Given the description of an element on the screen output the (x, y) to click on. 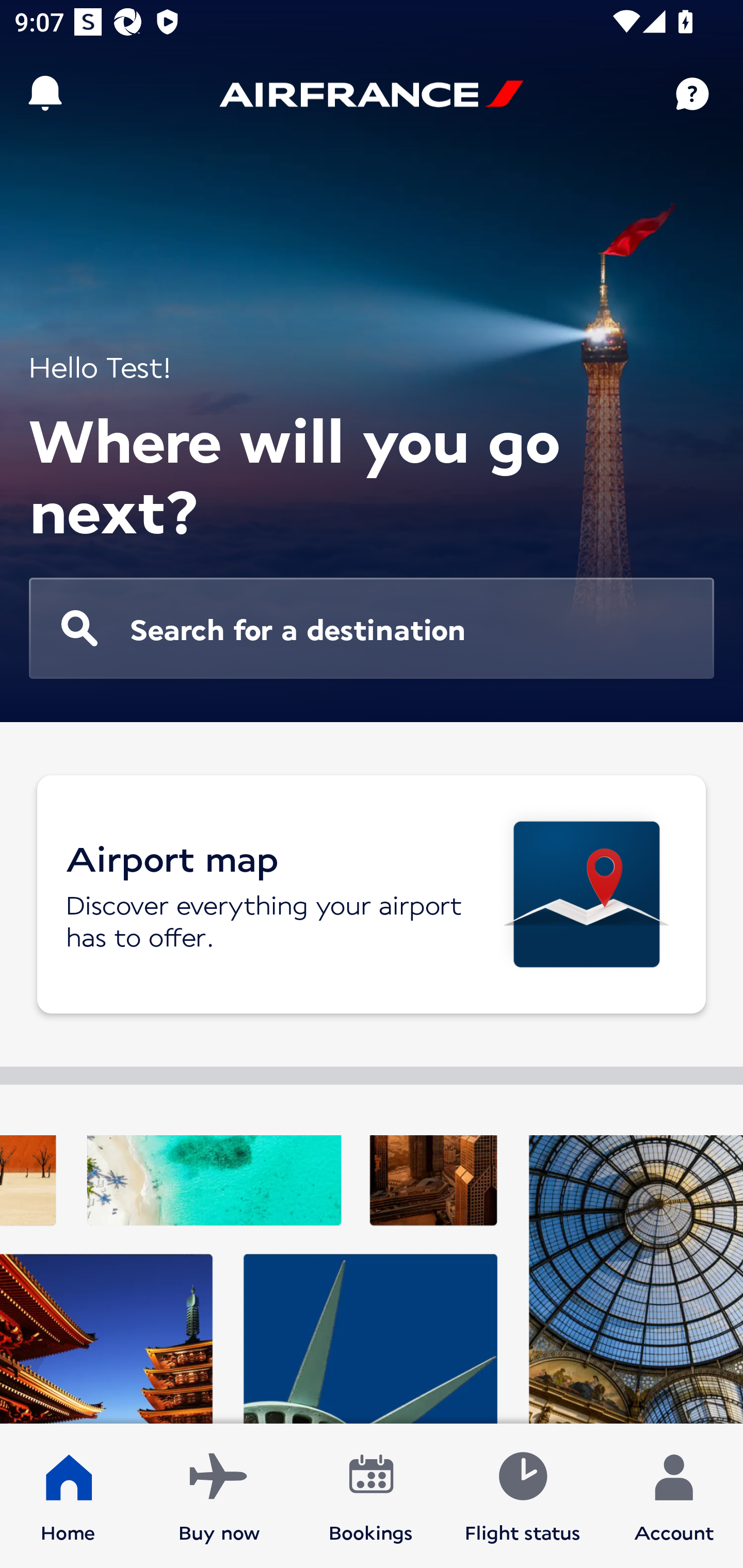
Search for a destination (371, 627)
Buy now (219, 1495)
Bookings (370, 1495)
Flight status (522, 1495)
Account (674, 1495)
